Given the description of an element on the screen output the (x, y) to click on. 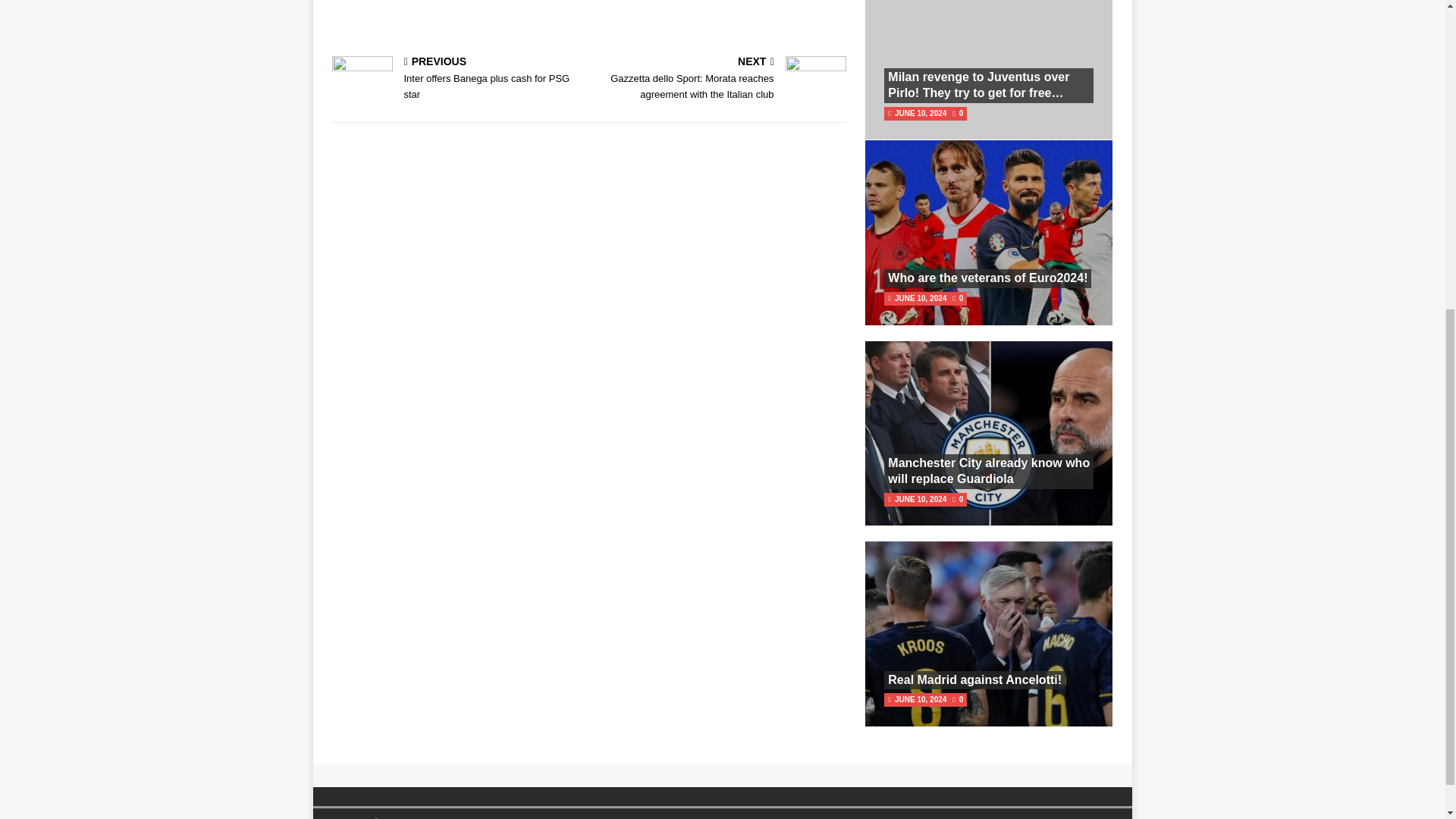
Who are the veterans of Euro2024! (987, 277)
0 (961, 499)
Real Madrid against Ancelotti! (974, 679)
Manchester City already know who will replace Guardiola (988, 470)
Who are the veterans of Euro2024! (987, 277)
0 (961, 112)
Real Madrid against Ancelotti! (974, 679)
0 (457, 79)
0 (961, 699)
Manchester City already know who will replace Guardiola (961, 298)
